Given the description of an element on the screen output the (x, y) to click on. 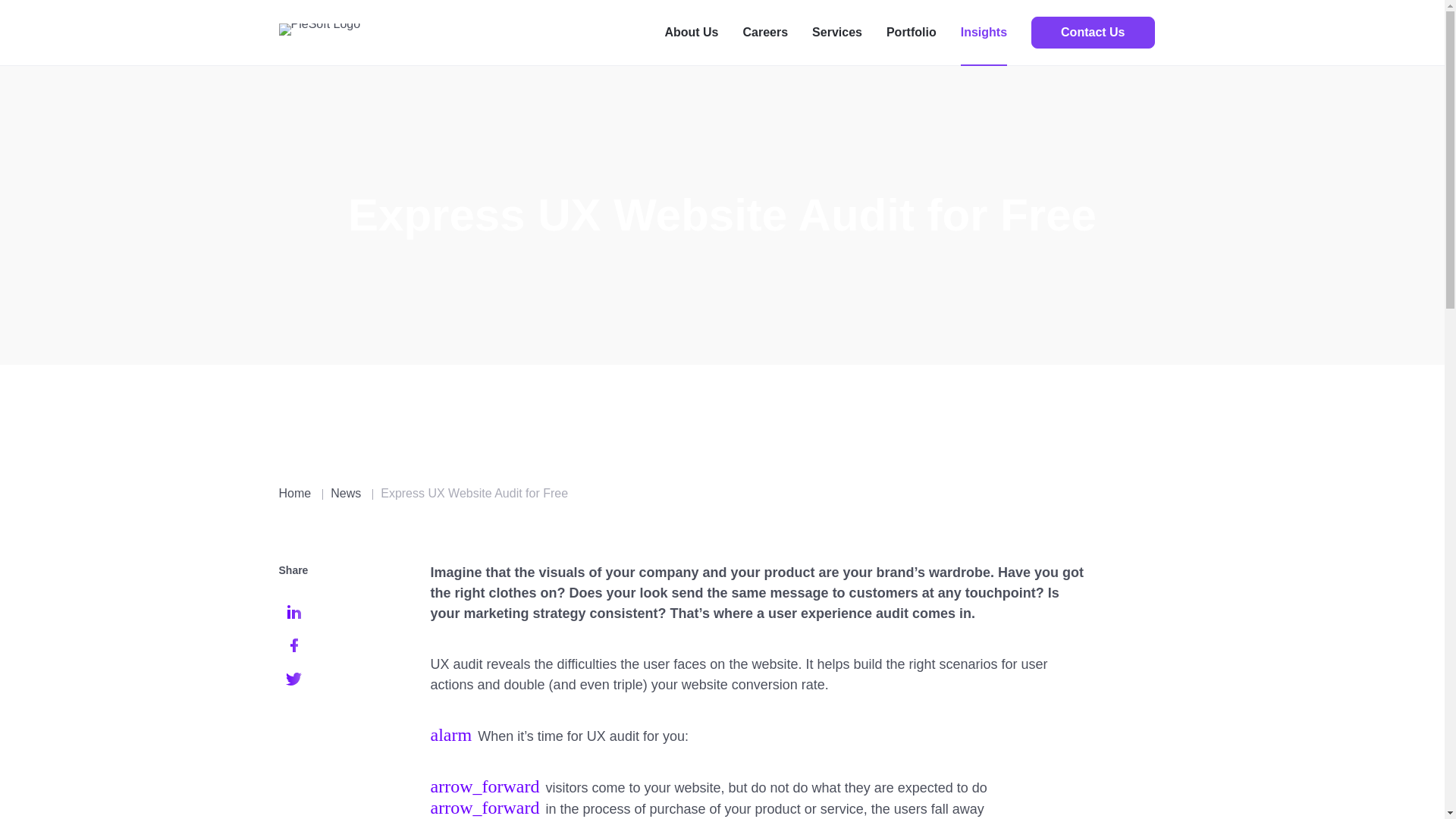
LinkedIn (293, 612)
Twitter (293, 678)
Contact Us (1092, 32)
Home (295, 492)
Facebook (293, 644)
News (345, 492)
